Given the description of an element on the screen output the (x, y) to click on. 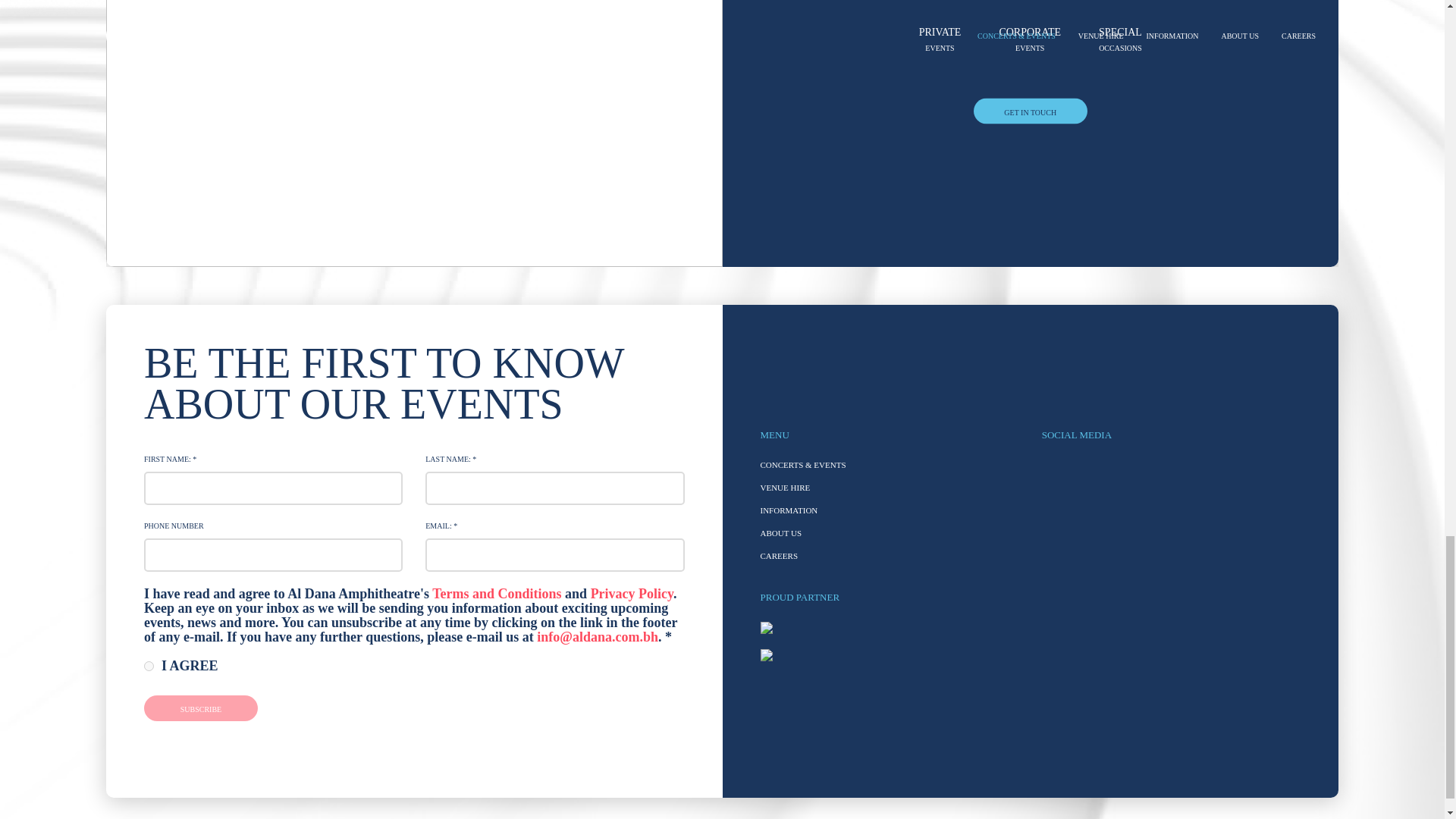
Subscribe (200, 708)
I Agree (149, 665)
